Given the description of an element on the screen output the (x, y) to click on. 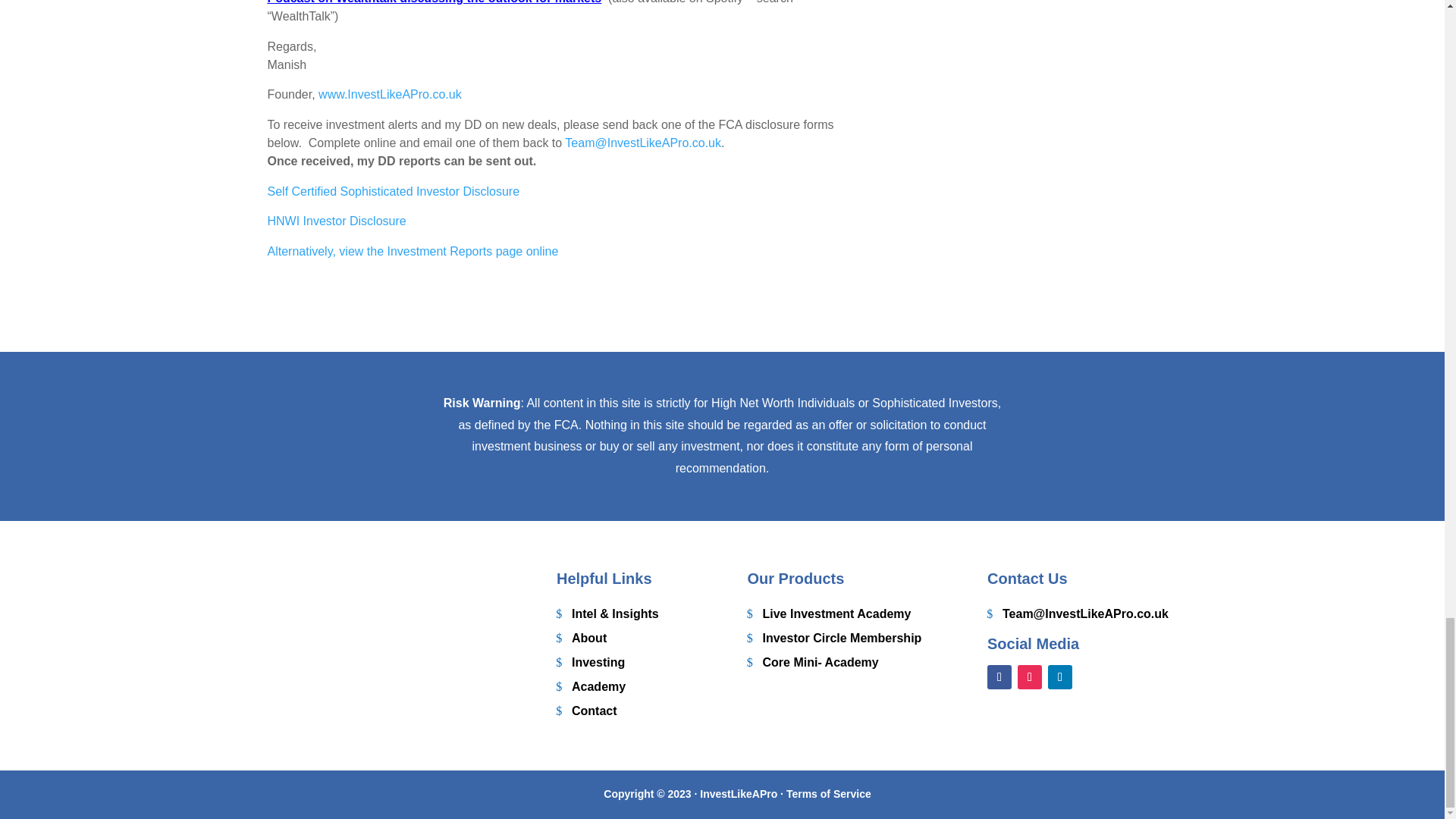
Investing (590, 660)
Academy (591, 684)
Alternatively, view the Investment Reports page online (411, 250)
HNWI Investor Disclosure (336, 220)
Self Certified Sophisticated Investor Disclosure (392, 191)
Contact (586, 708)
Follow on Facebook (999, 677)
Investor Circle Membership (834, 636)
www.InvestLikeAPro.co.uk (389, 93)
Core Mini- Academy (813, 660)
Podcast on Wealthtalk discussing the outlook for markets (433, 2)
Live Investment Academy (829, 611)
Follow on LinkedIn (1059, 677)
About (581, 636)
Follow on Instagram (1029, 677)
